Given the description of an element on the screen output the (x, y) to click on. 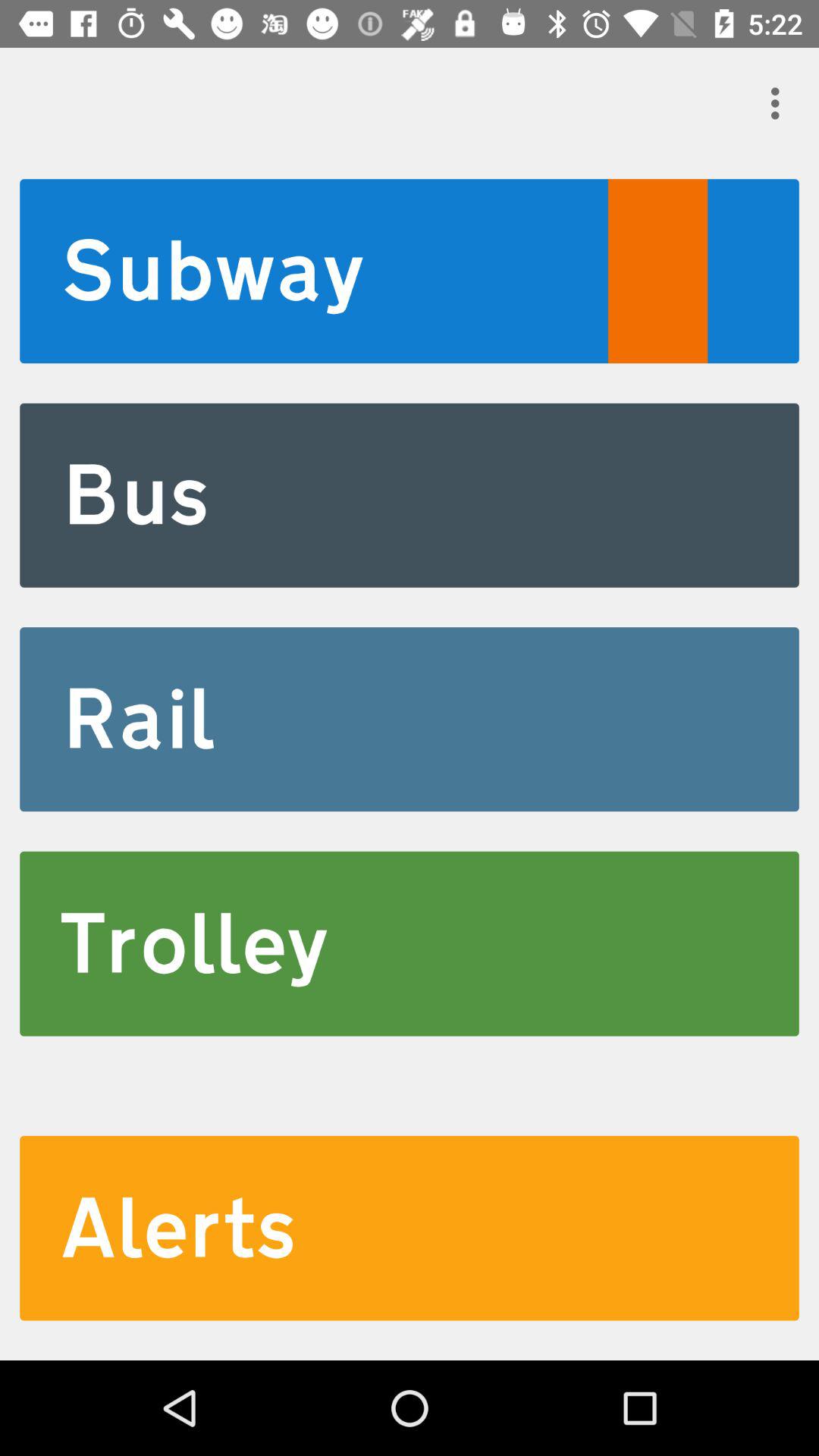
tap the item above bus item (409, 271)
